Given the description of an element on the screen output the (x, y) to click on. 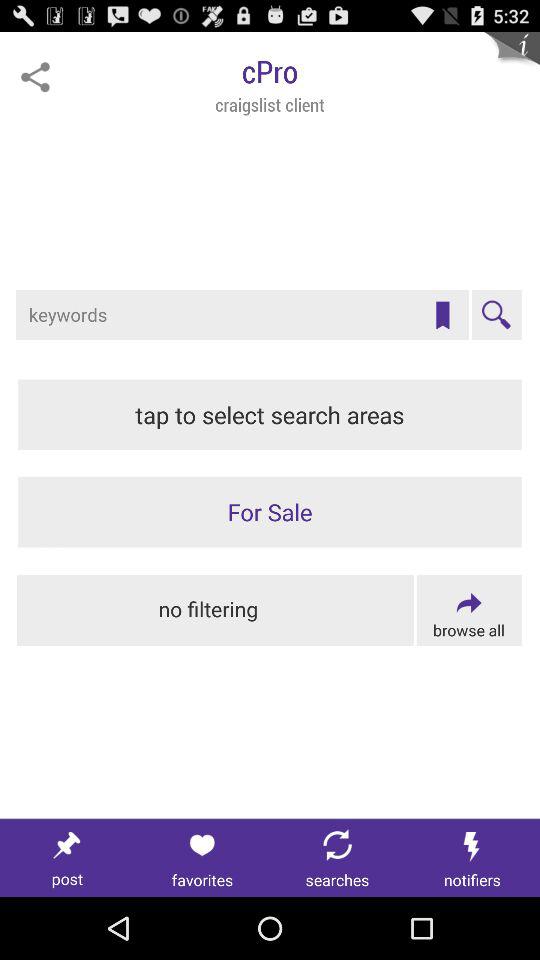
browse all (468, 610)
